Given the description of an element on the screen output the (x, y) to click on. 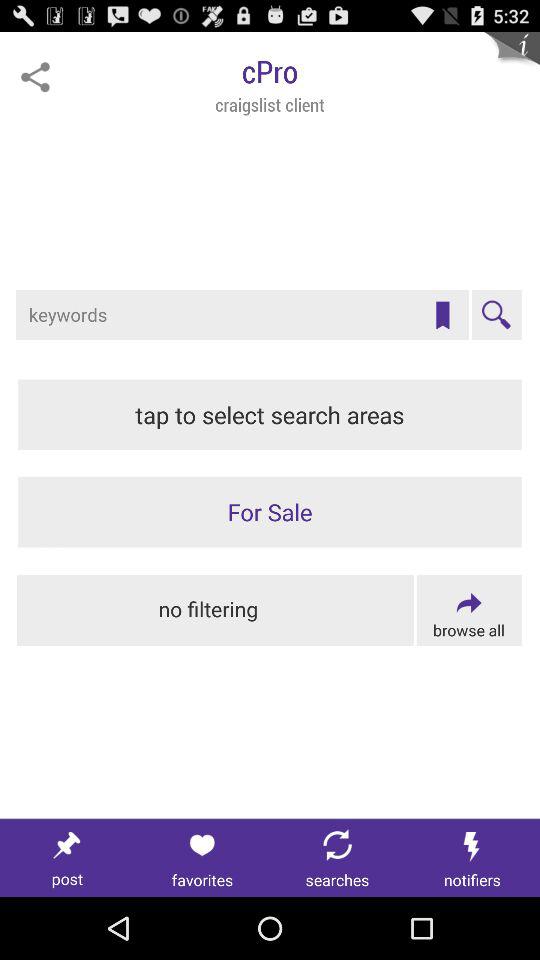
browse all (468, 610)
